Given the description of an element on the screen output the (x, y) to click on. 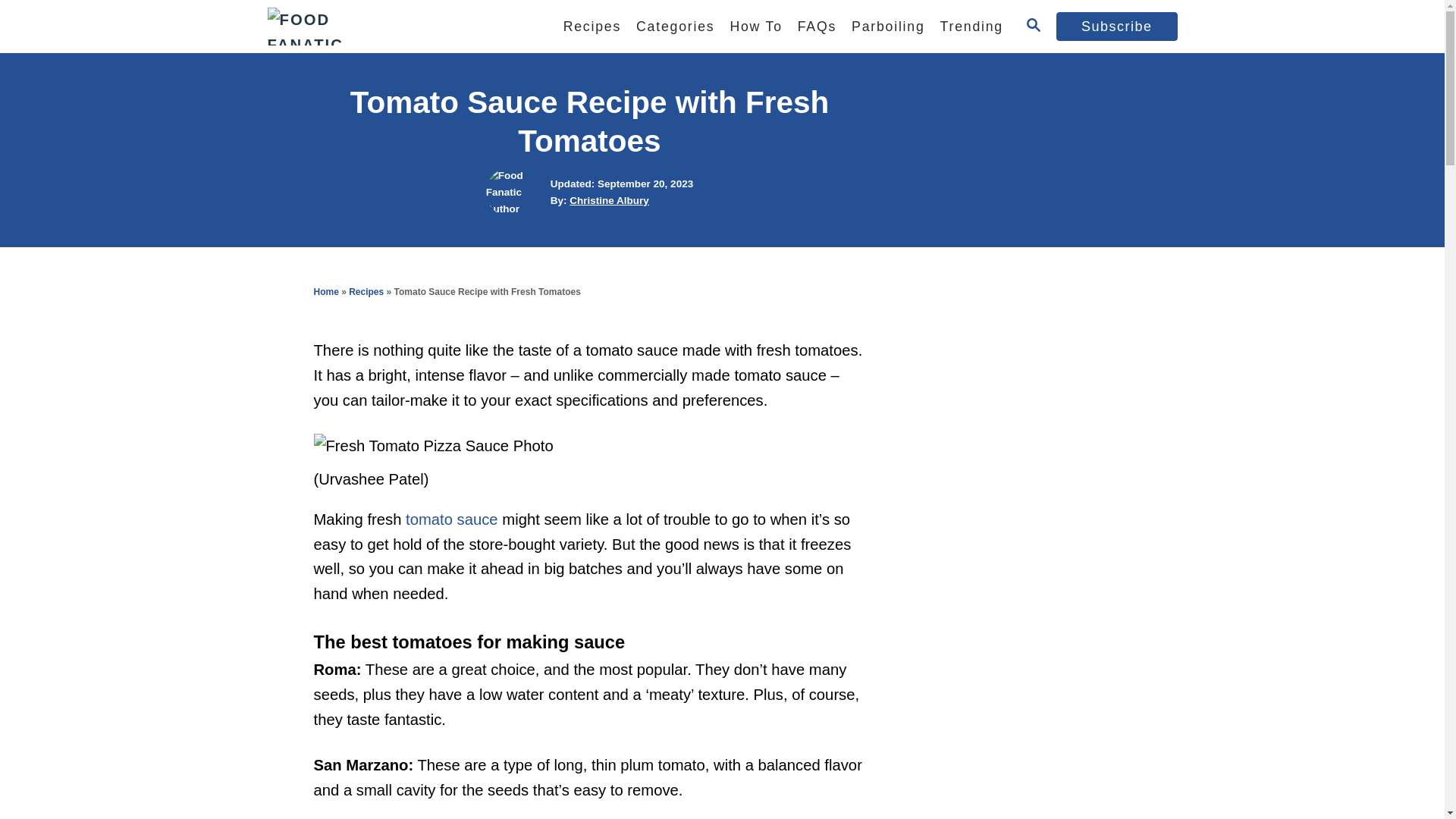
Recipes (592, 26)
FAQs (817, 26)
Categories (675, 26)
SEARCH (1033, 26)
How To (755, 26)
Food Fanatic (395, 26)
